Given the description of an element on the screen output the (x, y) to click on. 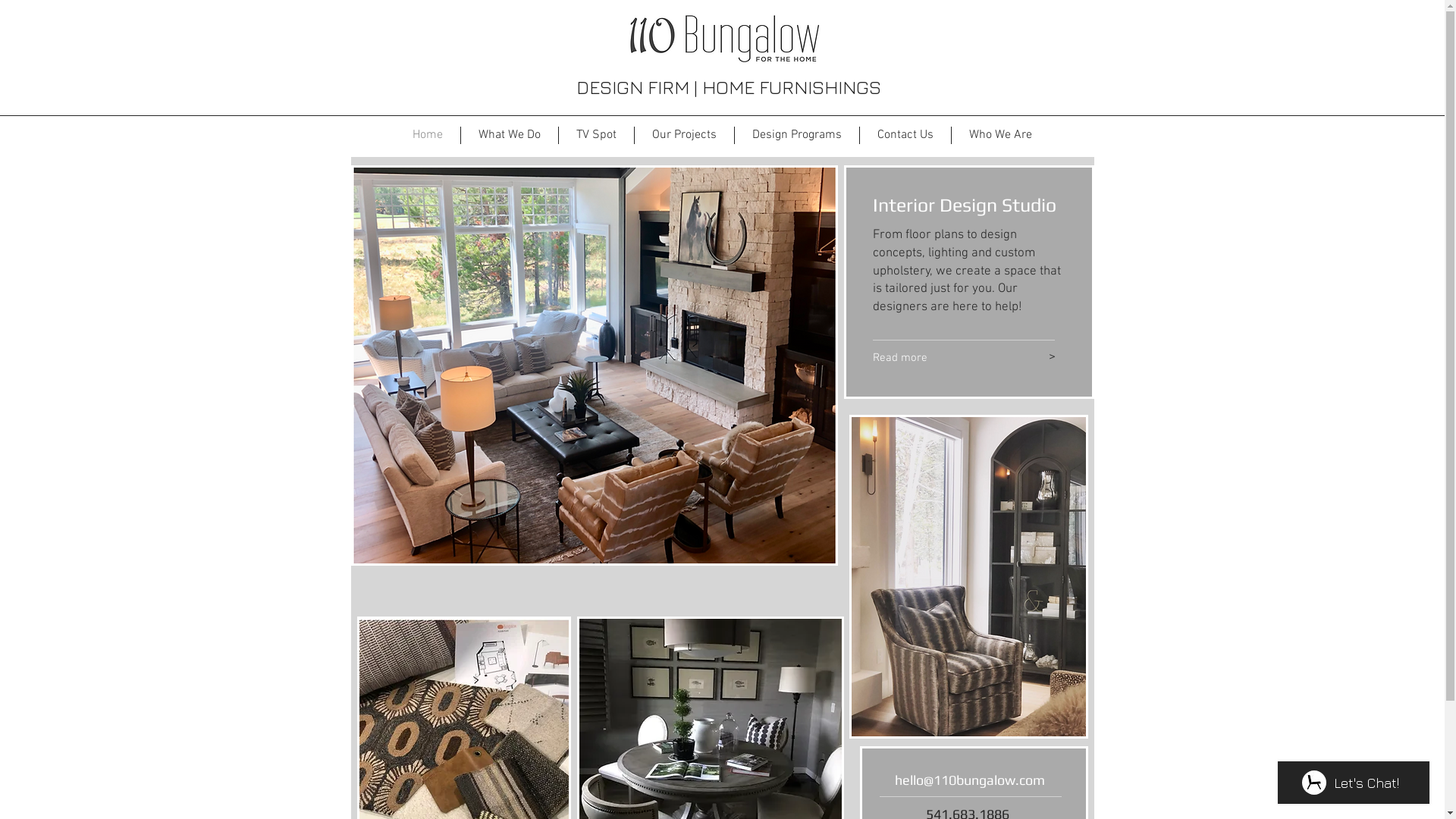
hello@110bungalow.com Element type: text (969, 779)
TV Spot Element type: text (595, 135)
What We Do Element type: text (509, 135)
Read more Element type: text (938, 357)
Our Projects Element type: text (683, 135)
Who We Are Element type: text (999, 135)
Design Programs Element type: text (796, 135)
Home Element type: text (426, 135)
DESIGN FIRM | HOME FURNISHINGS Element type: text (728, 86)
Contact Us Element type: text (904, 135)
